Given the description of an element on the screen output the (x, y) to click on. 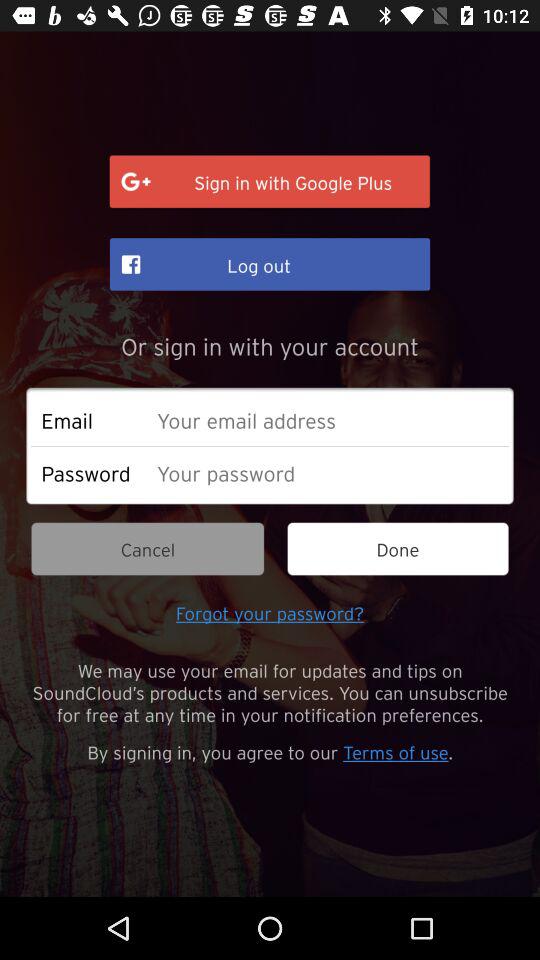
tap the icon above the forgot your password? (147, 548)
